Given the description of an element on the screen output the (x, y) to click on. 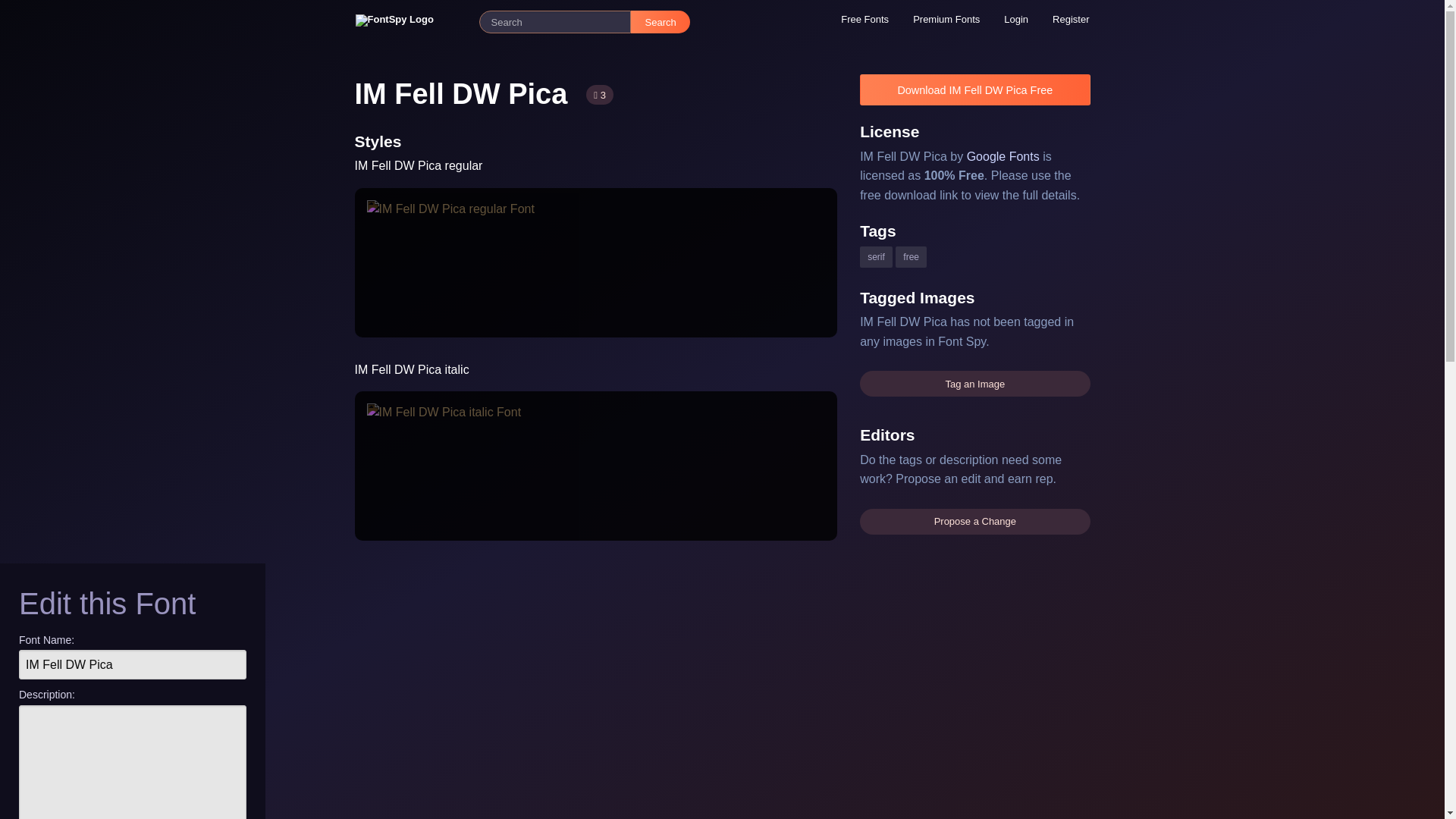
Download IM Fell DW Pica Free (974, 89)
Fonts tagged serif (876, 256)
Likes (599, 94)
Google Fonts (1002, 155)
Search (660, 21)
Register (1070, 18)
Free Fonts (864, 18)
Font Fpy Free Font Search Engine (410, 21)
free (910, 256)
Fonts tagged free (910, 256)
IM Fell DW Pica (132, 664)
Tag an Image (974, 383)
Propose a Change (974, 521)
Premium Fonts (946, 18)
Login (1016, 18)
